Given the description of an element on the screen output the (x, y) to click on. 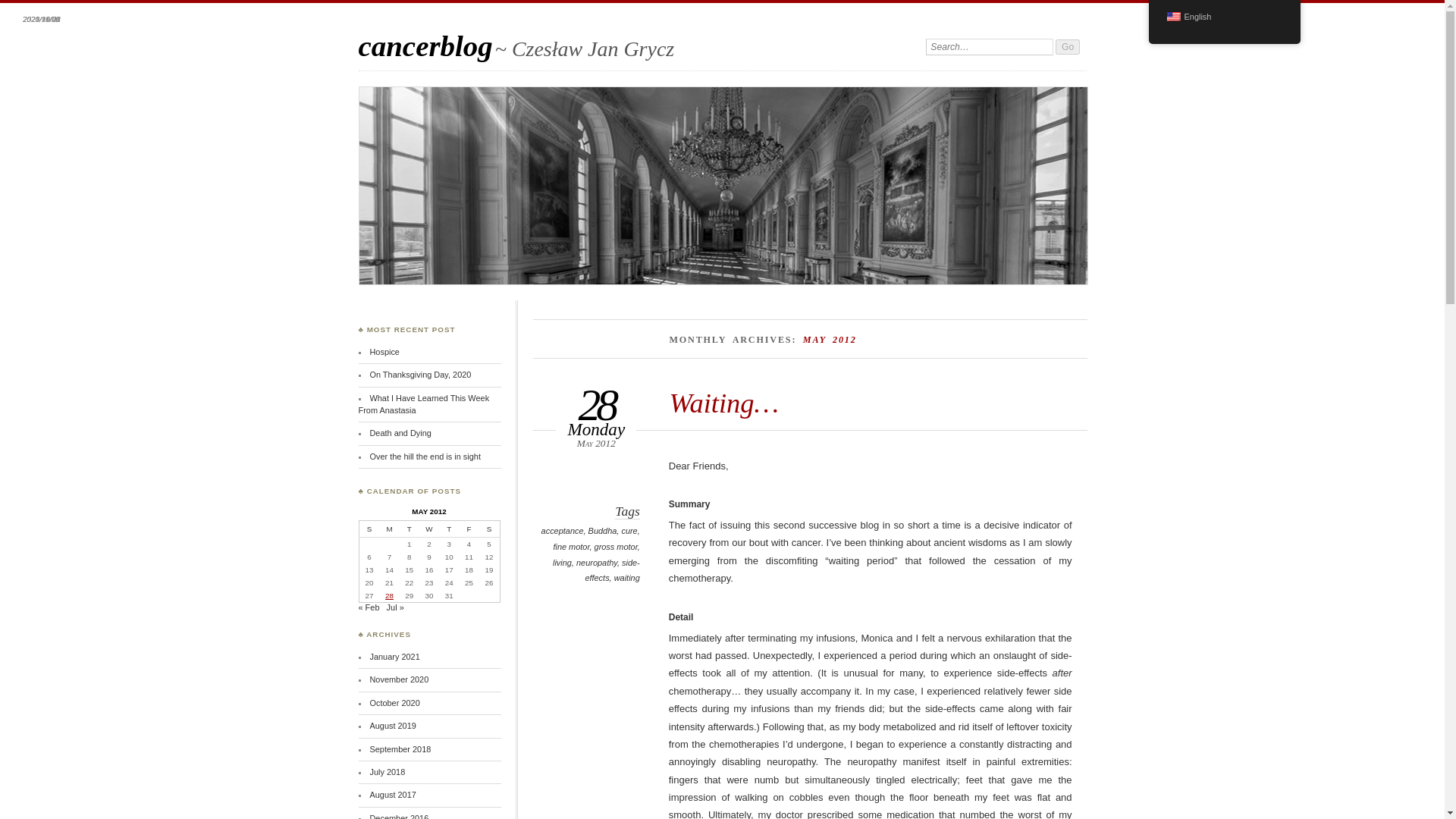
Tuesday (408, 528)
side-effects (612, 570)
neuropathy (596, 562)
August 2019 (391, 725)
November 2020 (398, 678)
Friday (468, 528)
October 2020 (394, 702)
August 2017 (391, 794)
What I Have Learned This Week From Anastasia (423, 403)
Monday (388, 528)
Buddha (602, 530)
waiting (627, 577)
January 2021 (394, 655)
December 2016 (398, 816)
July 2018 (386, 771)
